Given the description of an element on the screen output the (x, y) to click on. 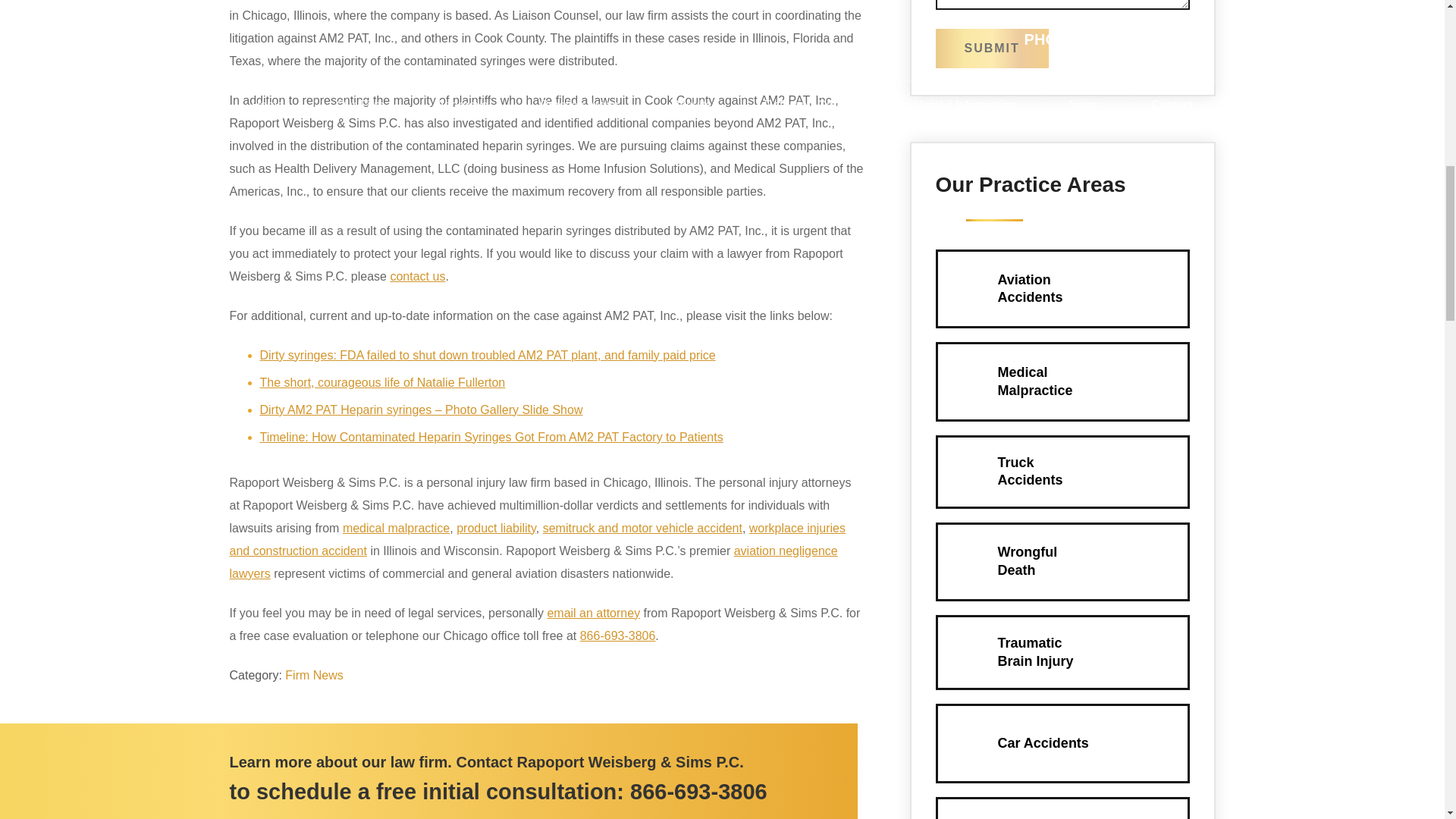
semitruck and motor vehicle accident (642, 527)
The short, courageous life of Natalie Fullerton (382, 382)
workplace injuries and construction accident (536, 539)
medical malpractice (395, 527)
contact us (417, 276)
email an attorney (593, 612)
Submit (992, 47)
product liability (496, 527)
